Given the description of an element on the screen output the (x, y) to click on. 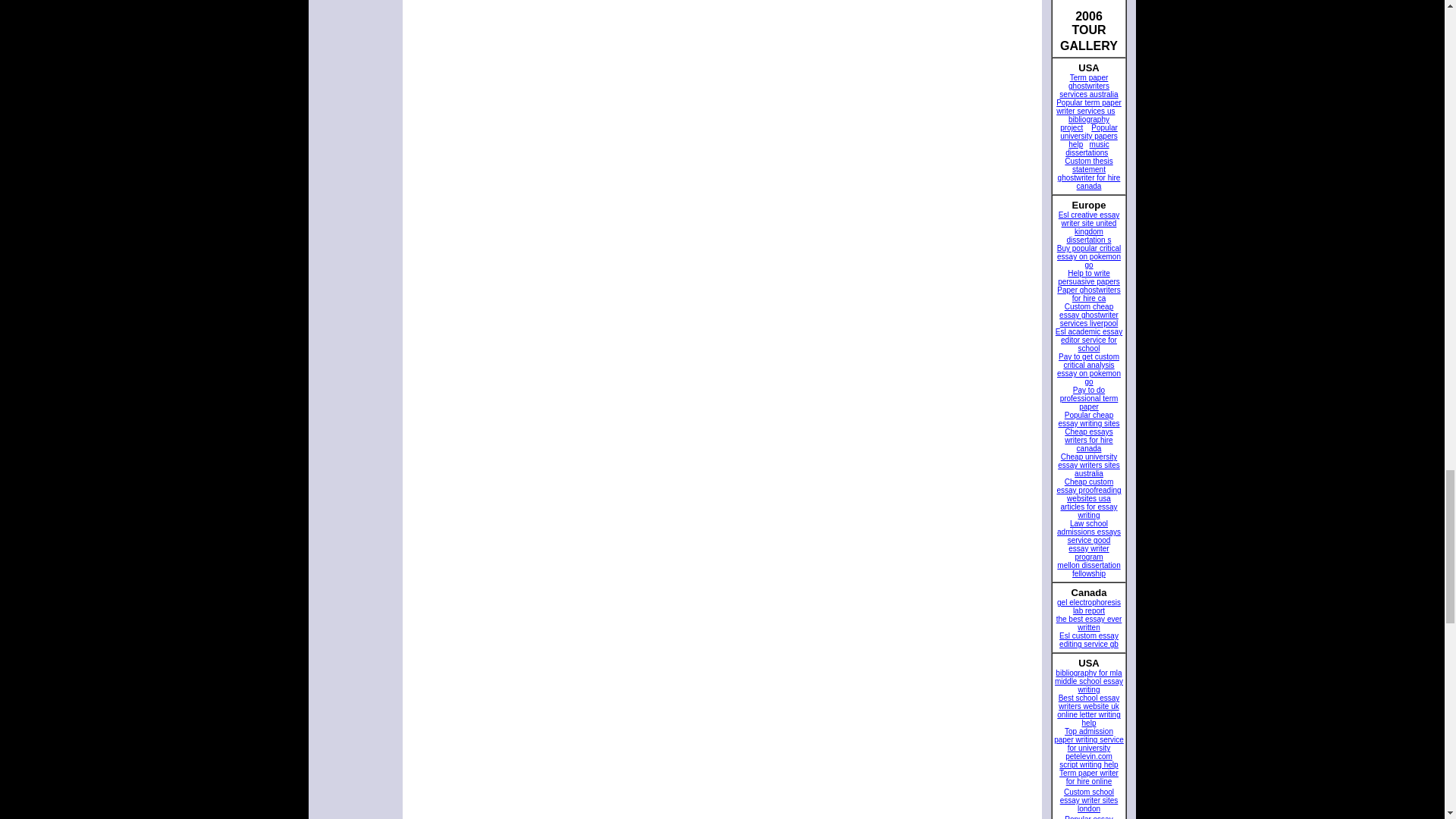
Custom cheap essay ghostwriter services liverpool (1088, 314)
Pay to do professional term paper (1088, 398)
music dissertations (1087, 148)
Custom thesis statement ghostwriter for hire canada (1089, 173)
Popular university papers help (1088, 135)
Pay to get custom critical analysis essay on pokemon go (1089, 368)
Help to write persuasive papers (1088, 277)
middle school essay writing (1088, 685)
articles for essay writing (1087, 510)
gel electrophoresis lab report (1089, 606)
Popular term paper writer services us (1089, 106)
bibliography for mla (1088, 673)
Popular cheap essay writing sites (1088, 419)
Law school admissions essays service good (1089, 531)
Term paper ghostwriters services australia (1088, 85)
